Given the description of an element on the screen output the (x, y) to click on. 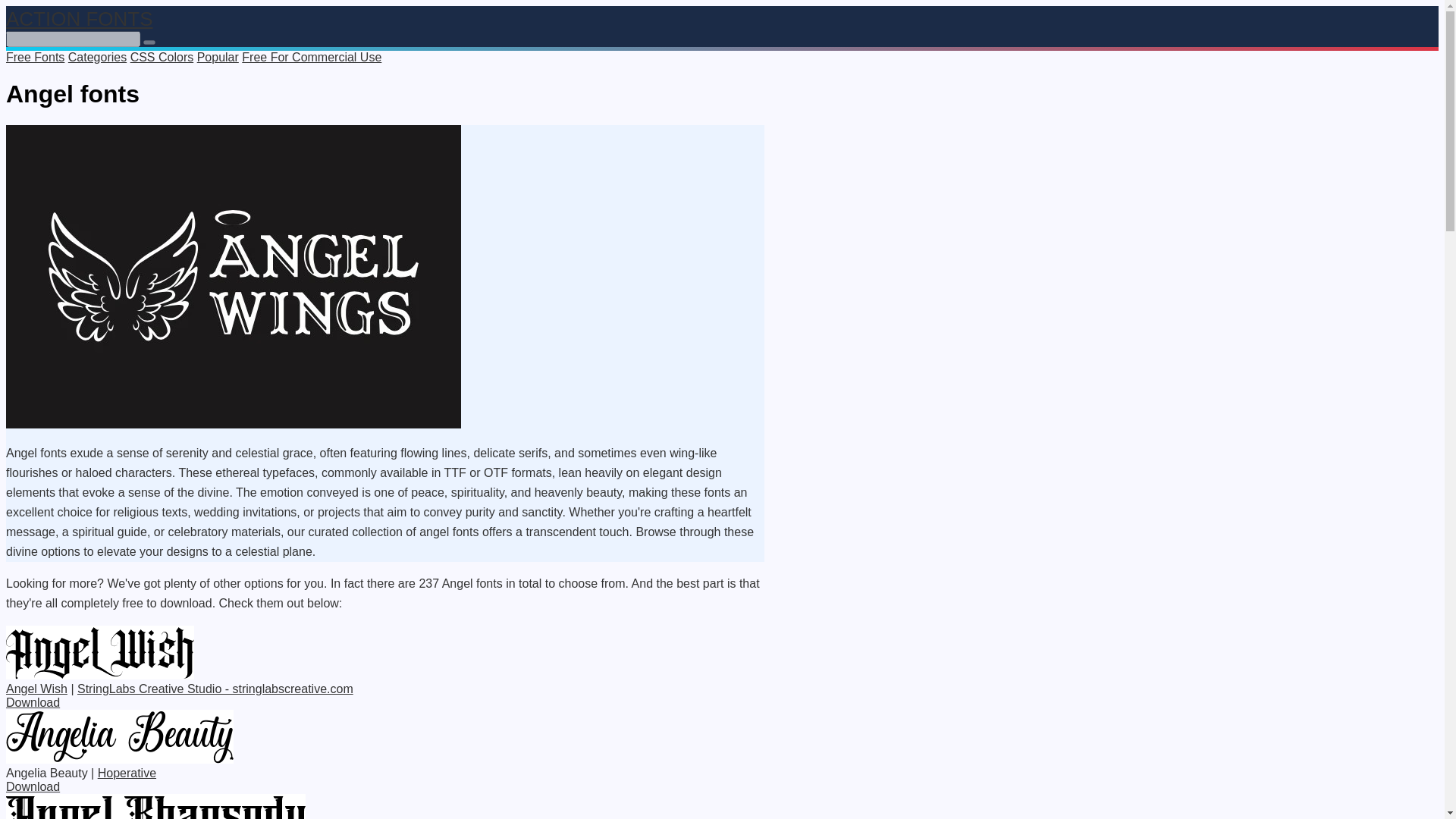
Hoperative (126, 772)
CSS Colors (162, 56)
Download (32, 786)
Angel Wish (35, 688)
Popular (217, 56)
ACTION FONTS (78, 18)
StringLabs Creative Studio - stringlabscreative.com (215, 688)
Categories (97, 56)
Download (32, 702)
Free For Commercial Use (311, 56)
Free Fonts (34, 56)
